Given the description of an element on the screen output the (x, y) to click on. 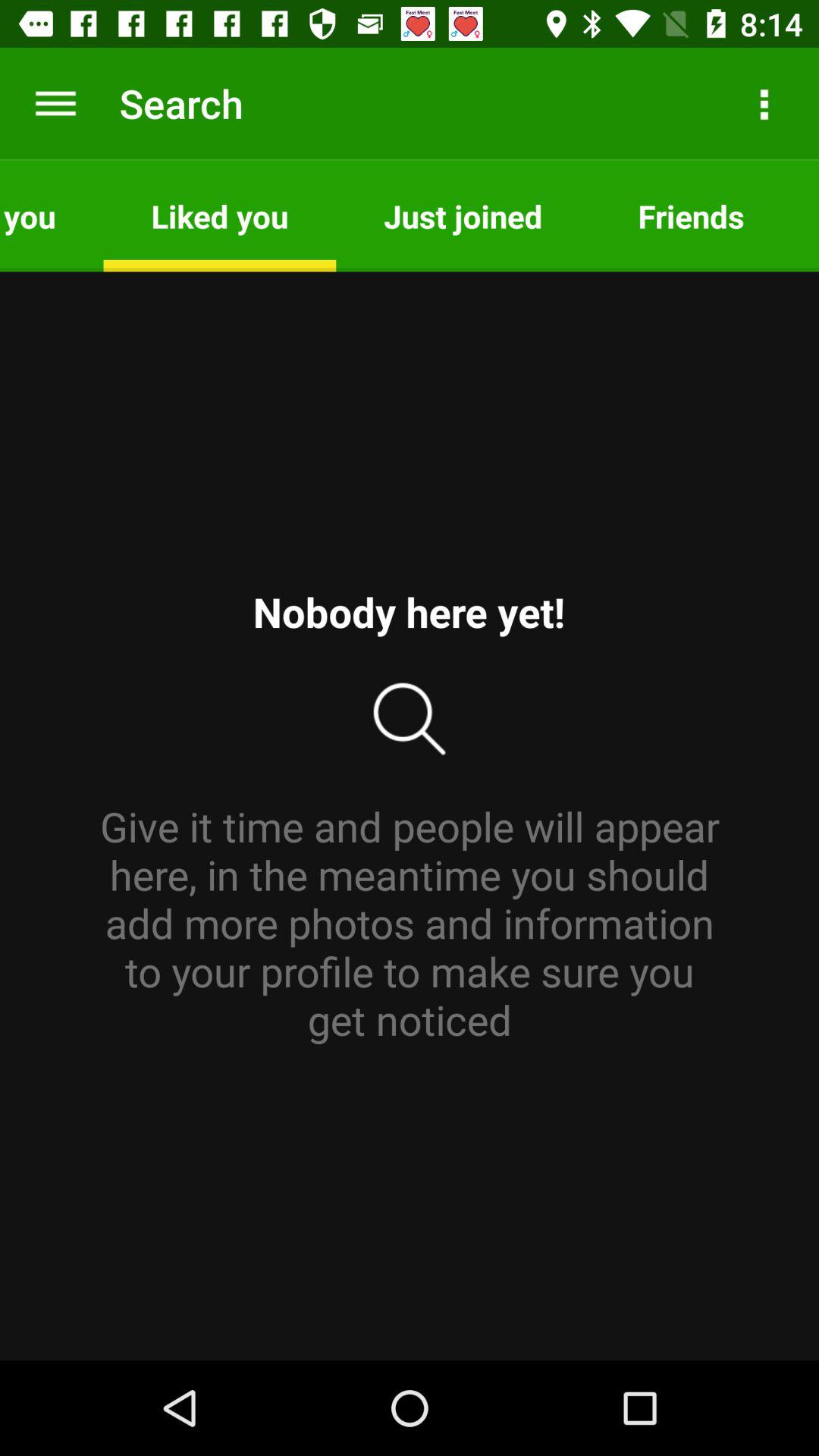
turn on the app to the left of just joined (219, 215)
